Given the description of an element on the screen output the (x, y) to click on. 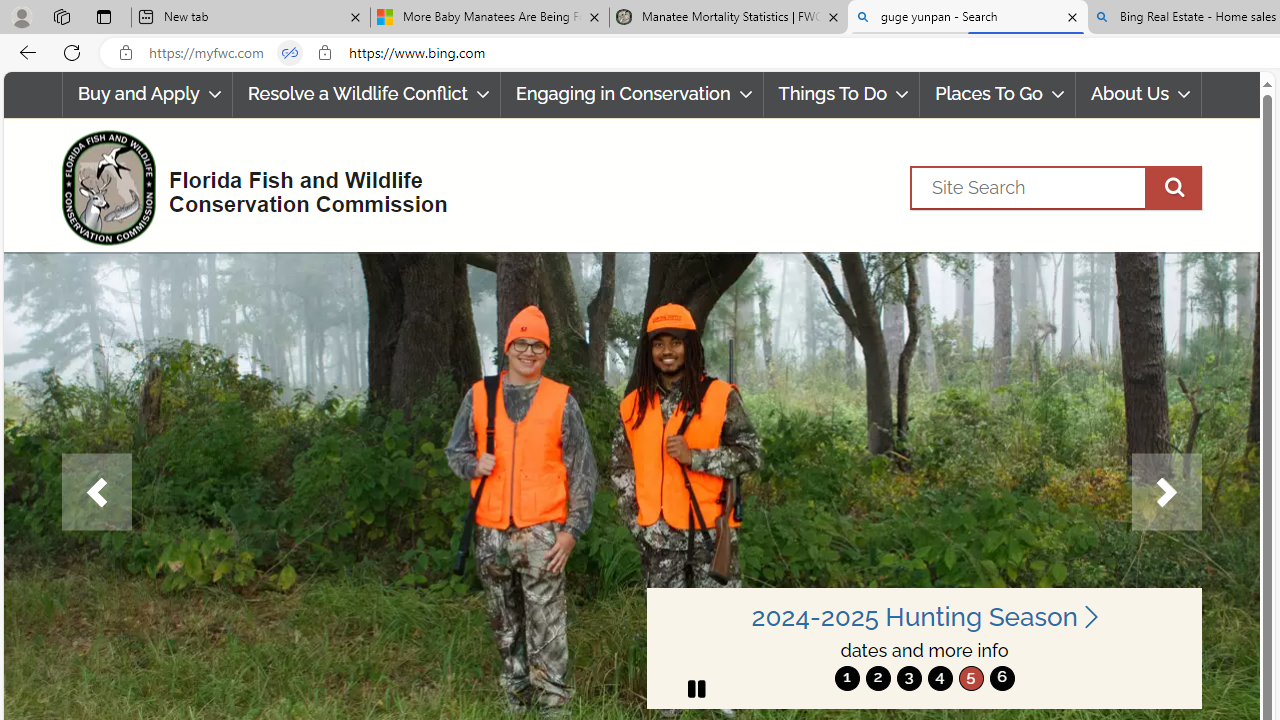
Things To Do (841, 94)
Things To Do (841, 94)
Engaging in Conservation (631, 94)
2 (877, 678)
FWC Logo (108, 187)
Places To Go (998, 94)
Engaging in Conservation (632, 94)
Tabs in split screen (289, 53)
slider pause button (696, 688)
guge yunpan - Search (967, 17)
